Given the description of an element on the screen output the (x, y) to click on. 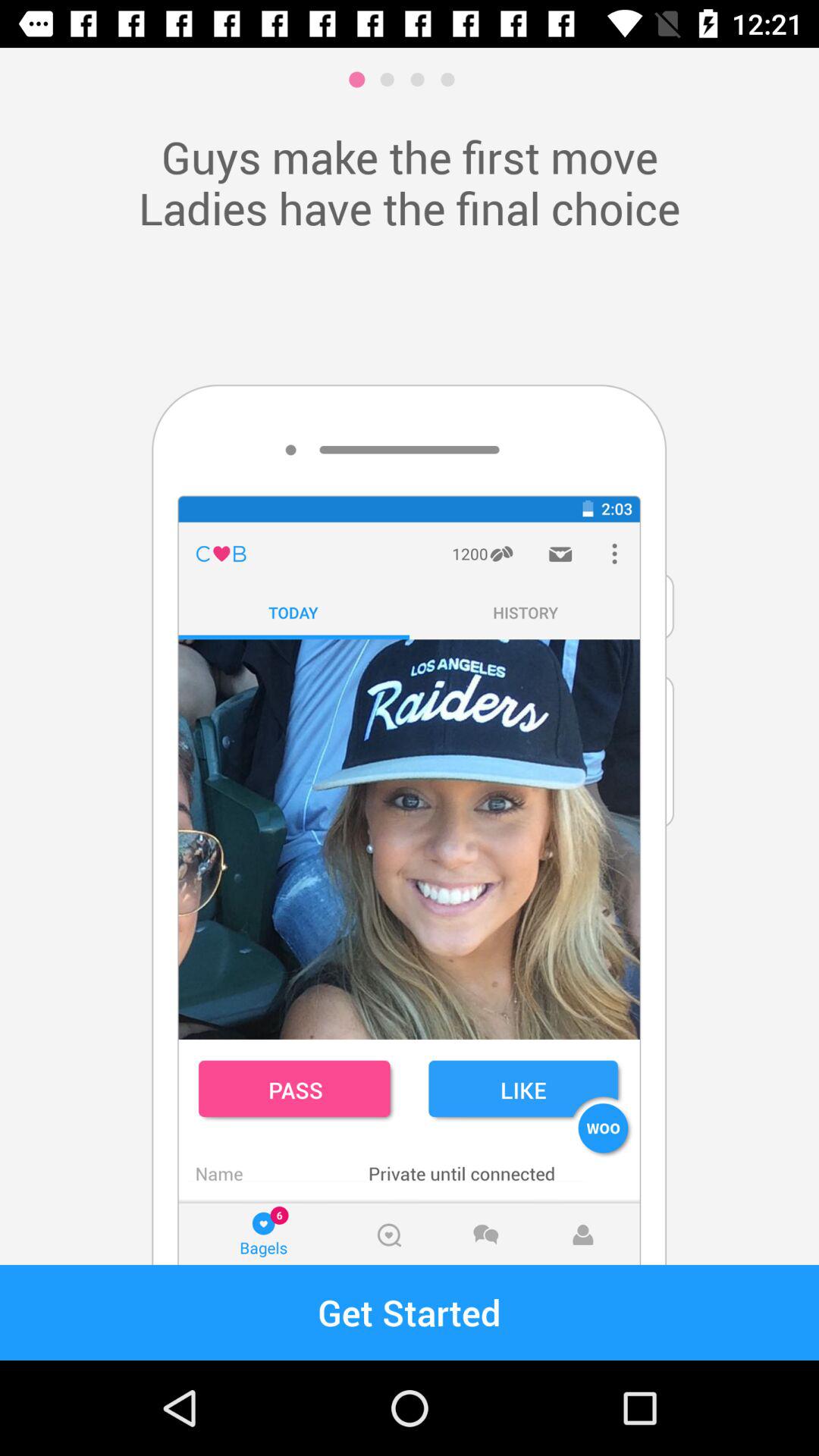
flip to get started (409, 1312)
